Given the description of an element on the screen output the (x, y) to click on. 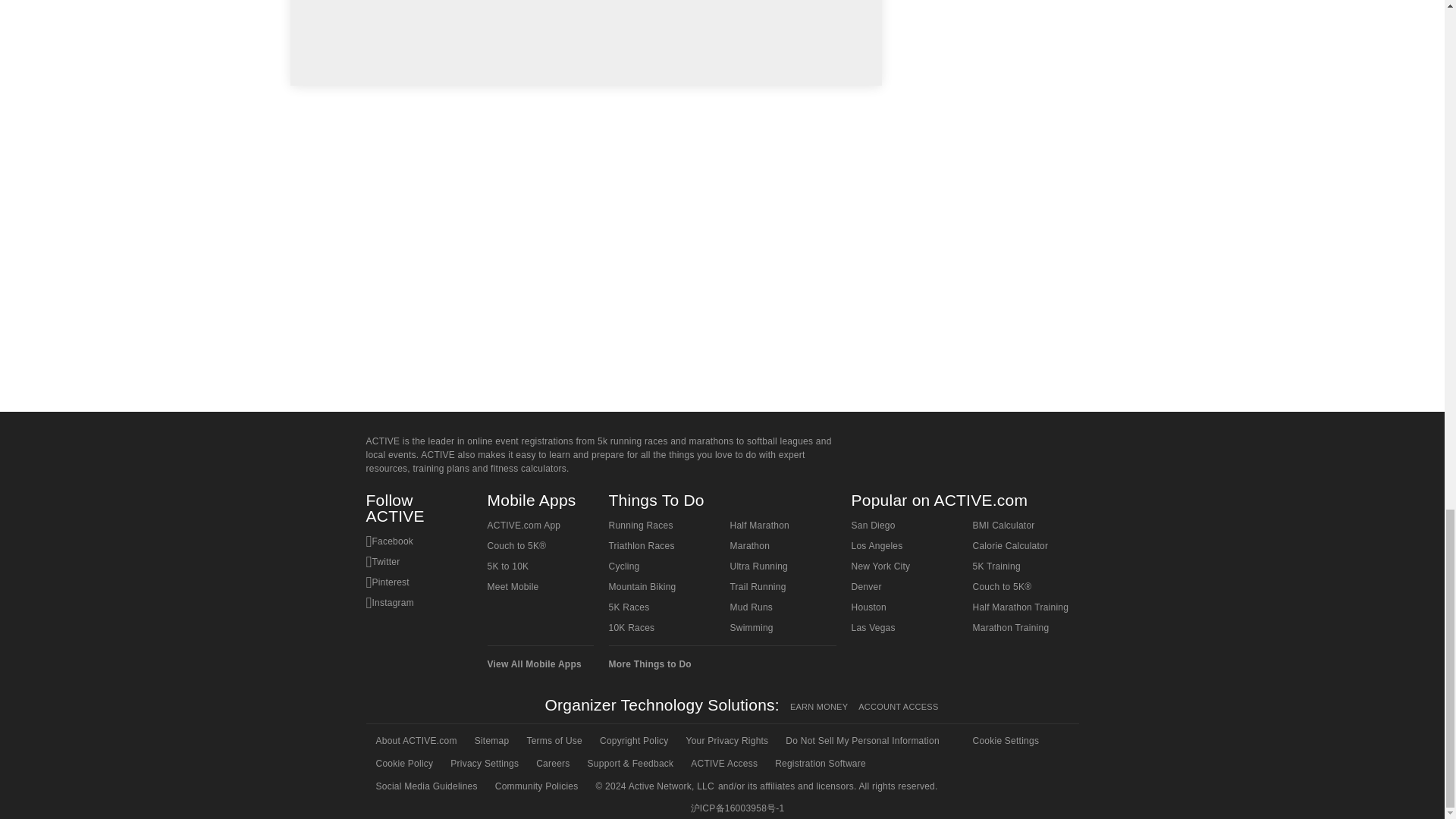
Careers at Active (550, 763)
Do Not Sell My Personal Information (861, 740)
Copyright Policy (633, 740)
Privacy Settings (483, 763)
Cookie Policy (403, 763)
Terms of Use (552, 740)
Your Privacy Rights: Updated (726, 740)
